Given the description of an element on the screen output the (x, y) to click on. 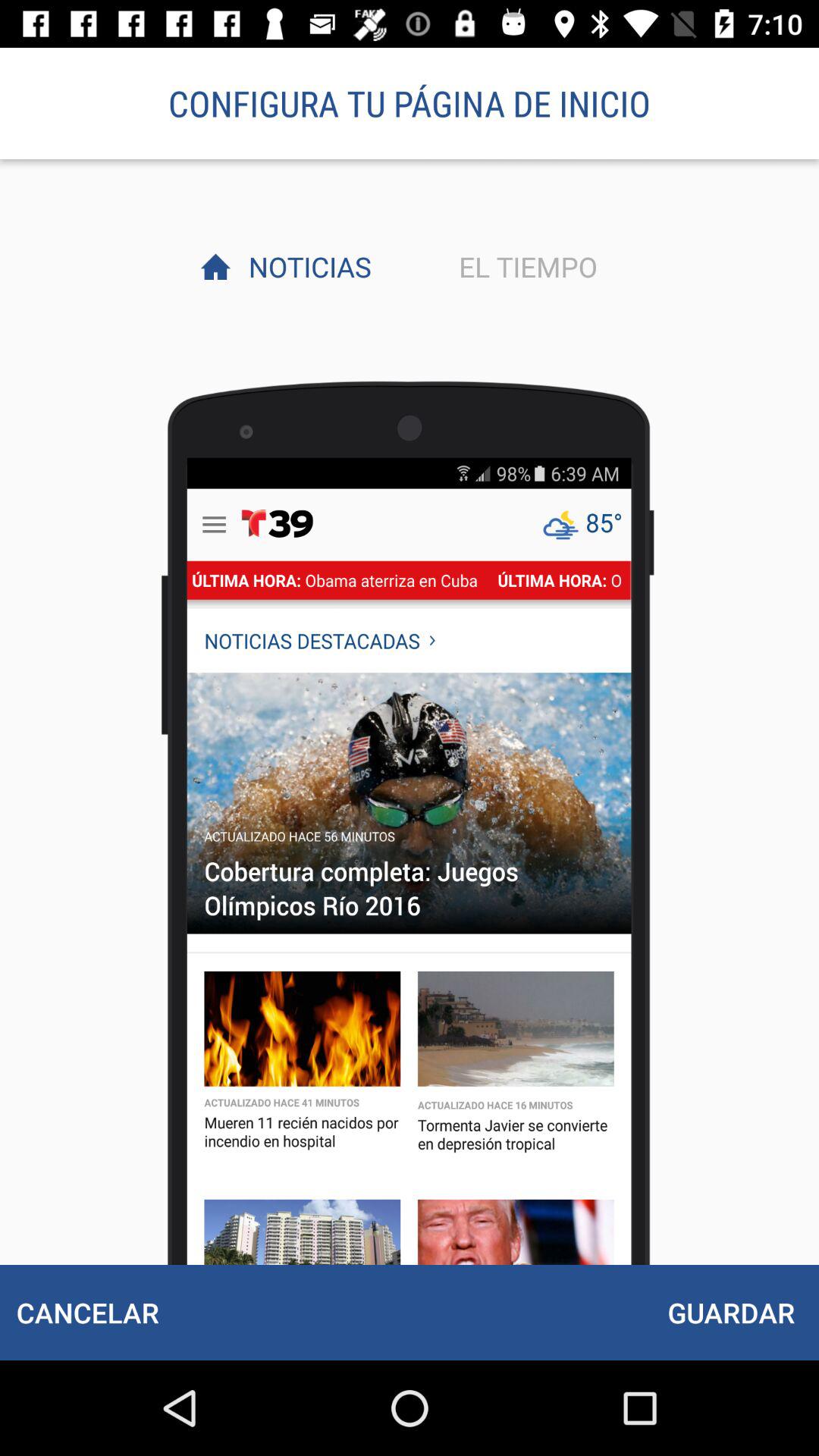
click the guardar at the bottom right corner (731, 1312)
